Given the description of an element on the screen output the (x, y) to click on. 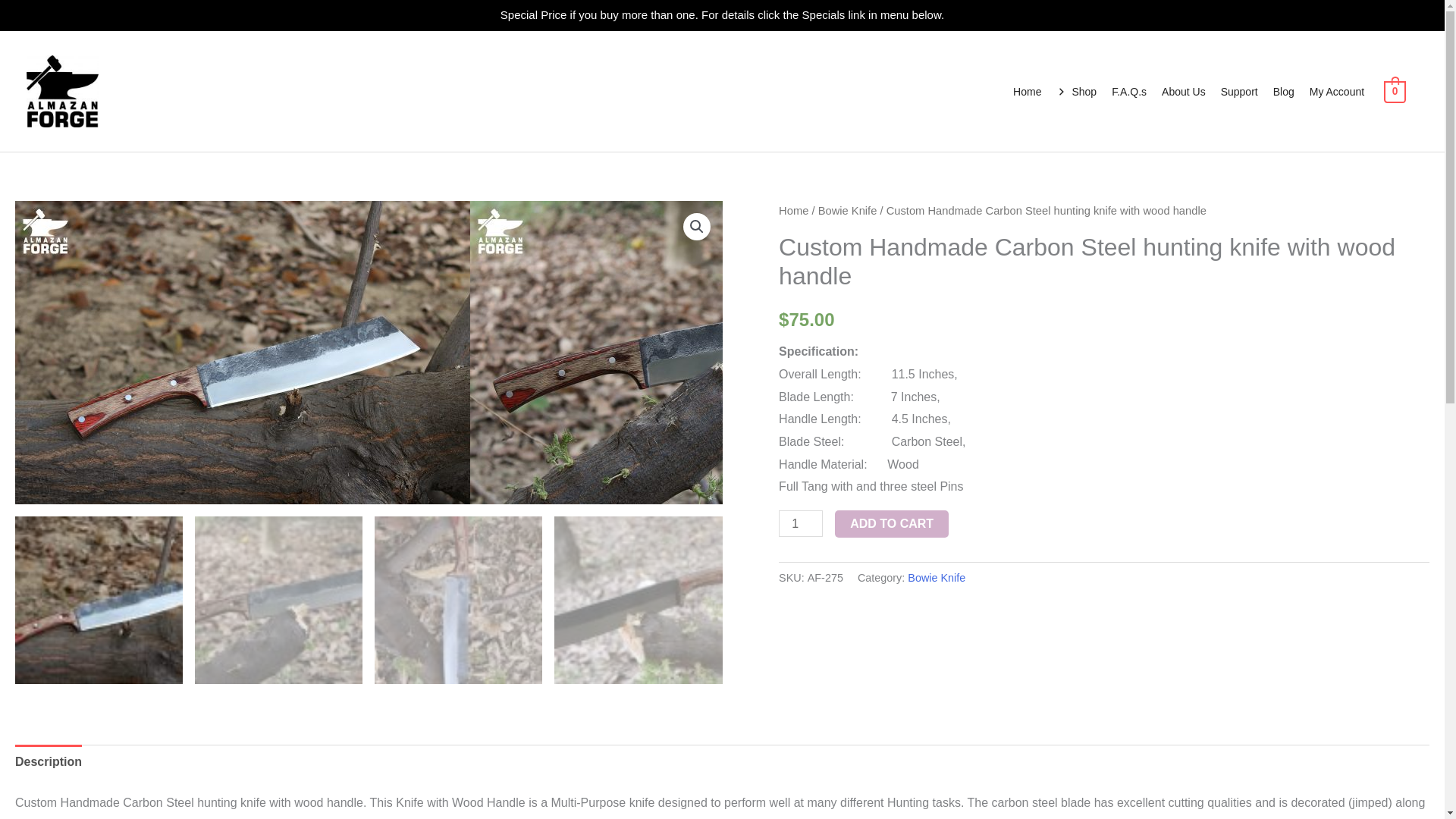
Home (793, 210)
Bowie Knife (936, 577)
About Us (1183, 91)
ADD TO CART (891, 523)
F.A.Q.s (1128, 91)
Support (1238, 91)
Shop (1075, 91)
Bowie Knife (847, 210)
Description (47, 761)
1 (800, 523)
Blog (1283, 91)
Home (1027, 91)
My Account (1336, 91)
0 (1395, 91)
